Given the description of an element on the screen output the (x, y) to click on. 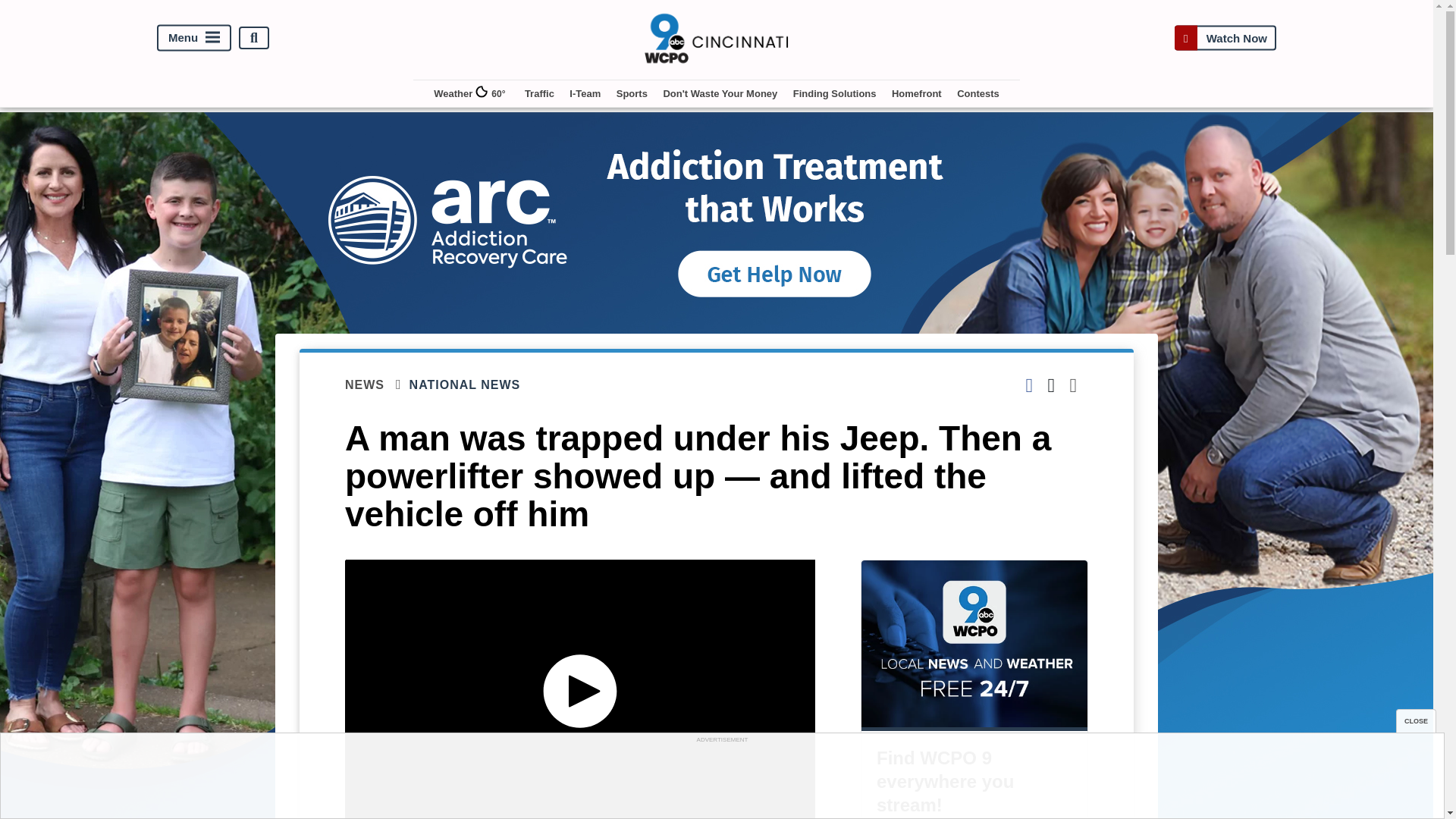
Menu (194, 38)
3rd party ad content (721, 780)
Watch Now (1224, 38)
